Given the description of an element on the screen output the (x, y) to click on. 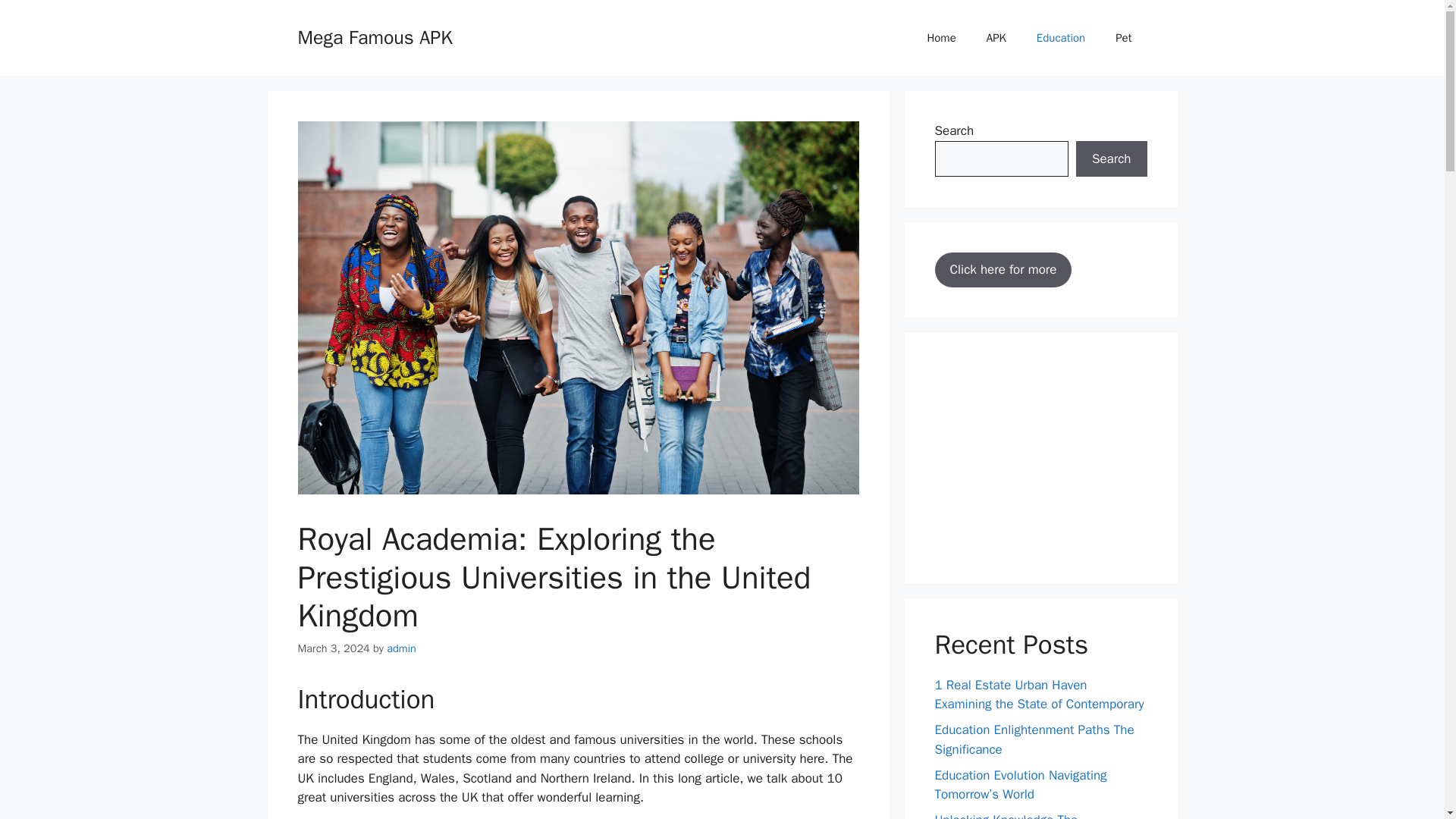
admin (401, 648)
Unlocking Knowledge The Educational Process (1005, 815)
Education (1061, 37)
Pet (1123, 37)
Education Enlightenment Paths The Significance (1034, 739)
APK (996, 37)
Click here for more (1002, 269)
Search (1111, 158)
Mega Famous APK (374, 37)
Home (941, 37)
View all posts by admin (401, 648)
